Given the description of an element on the screen output the (x, y) to click on. 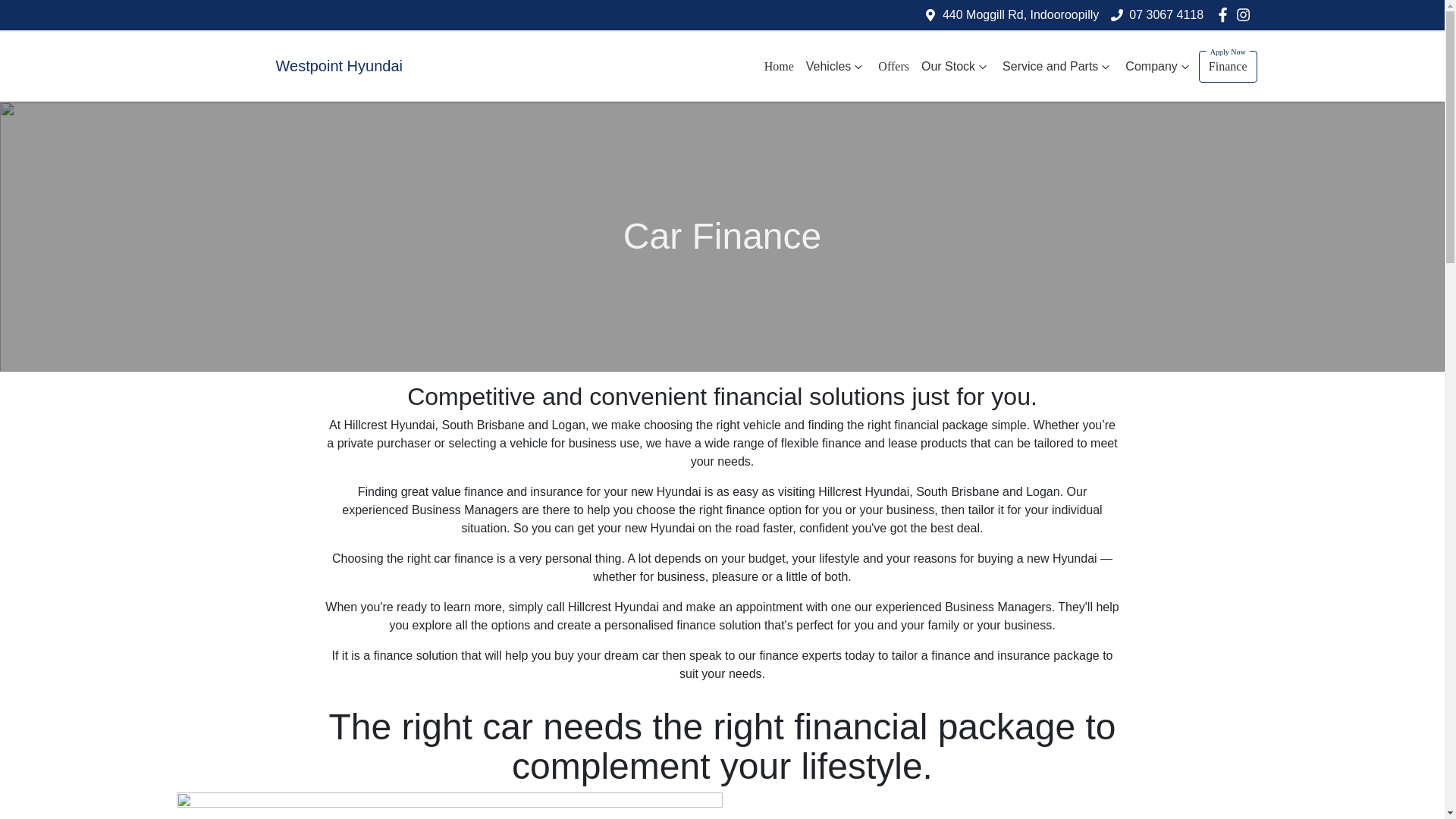
Offers (893, 66)
Vehicles (835, 66)
440 Moggill Rd, Indooroopilly (1020, 14)
Service and Parts (1057, 66)
07 3067 4118 (1166, 14)
Finance (1227, 66)
Home (778, 66)
Company (1158, 66)
Westpoint Hyundai (295, 66)
Our Stock (955, 66)
